Given the description of an element on the screen output the (x, y) to click on. 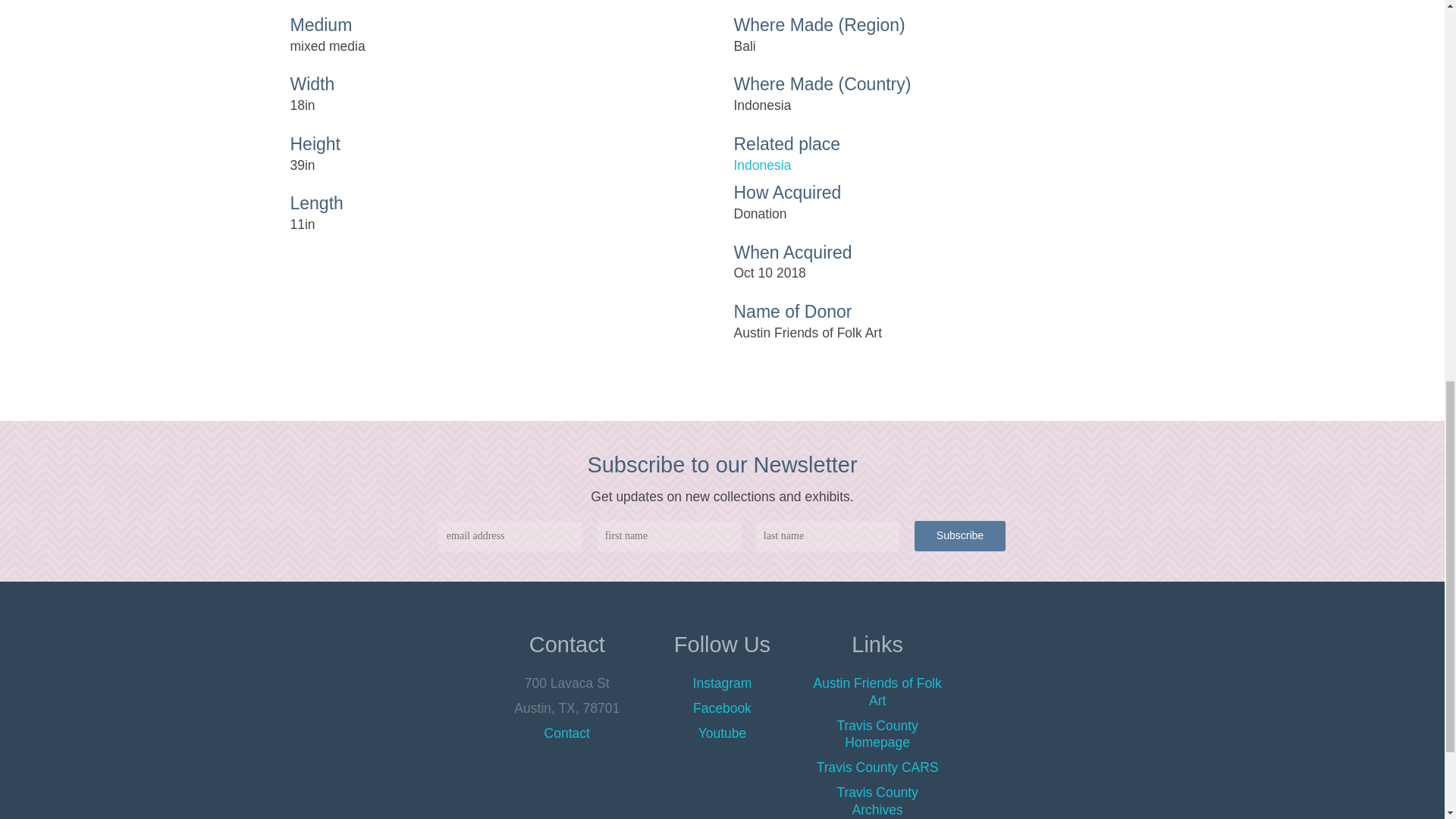
Instagram (722, 683)
Travis County CARS (877, 767)
Subscribe (960, 535)
Indonesia (943, 165)
Contact (566, 733)
Austin Friends of Folk Art (877, 691)
Travis County Homepage (876, 734)
Youtube (722, 733)
Subscribe (960, 535)
Travis County Archives (876, 800)
Facebook (722, 708)
